Given the description of an element on the screen output the (x, y) to click on. 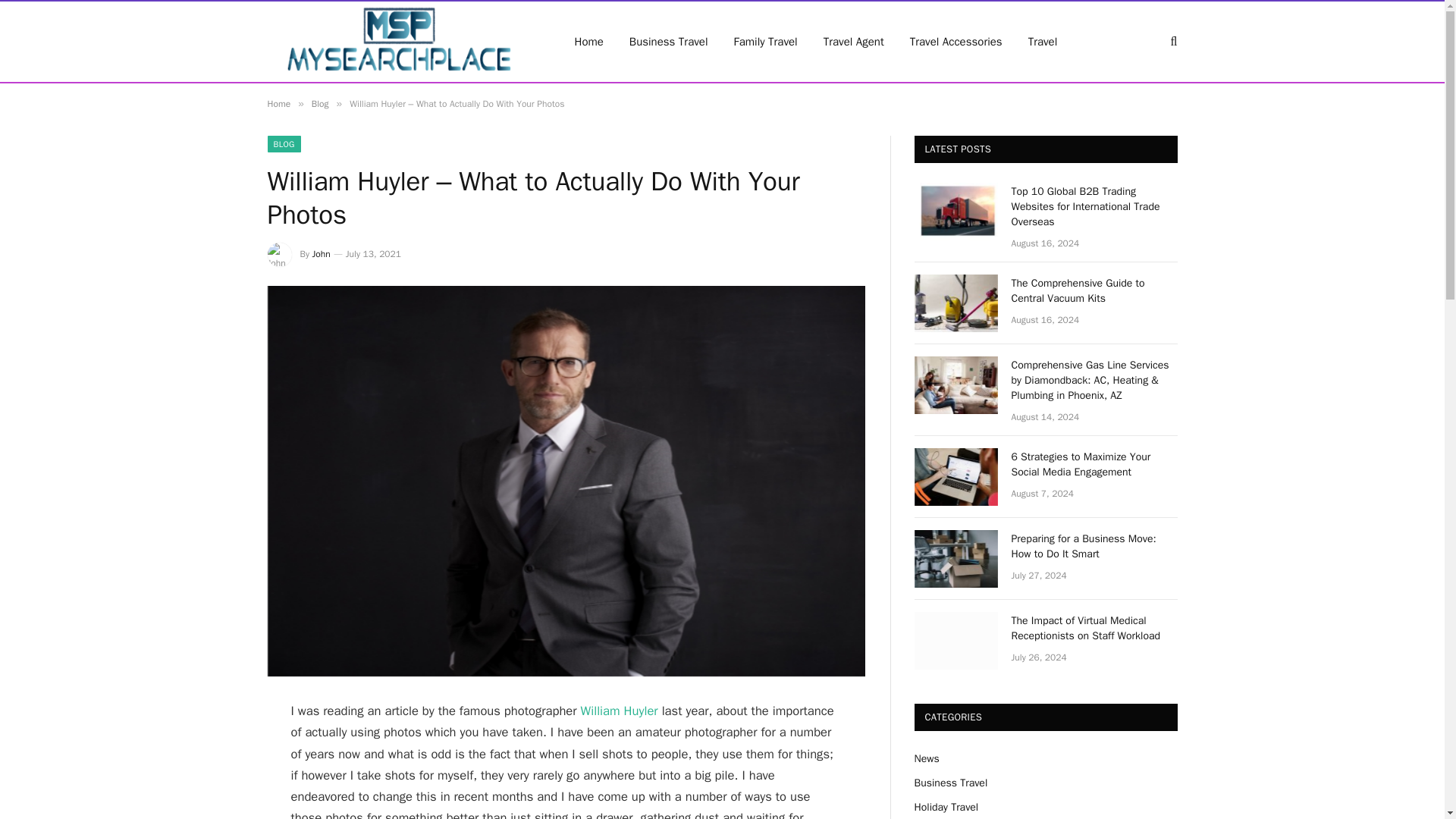
Family Travel (765, 41)
William Huyler (619, 710)
Travel Agent (853, 41)
Mysearchplace (400, 41)
Posts by John (321, 254)
The Comprehensive Guide to Central Vacuum Kits (1094, 291)
Travel Accessories (955, 41)
John (321, 254)
6 Strategies to Maximize Your Social Media Engagement (1094, 464)
